Given the description of an element on the screen output the (x, y) to click on. 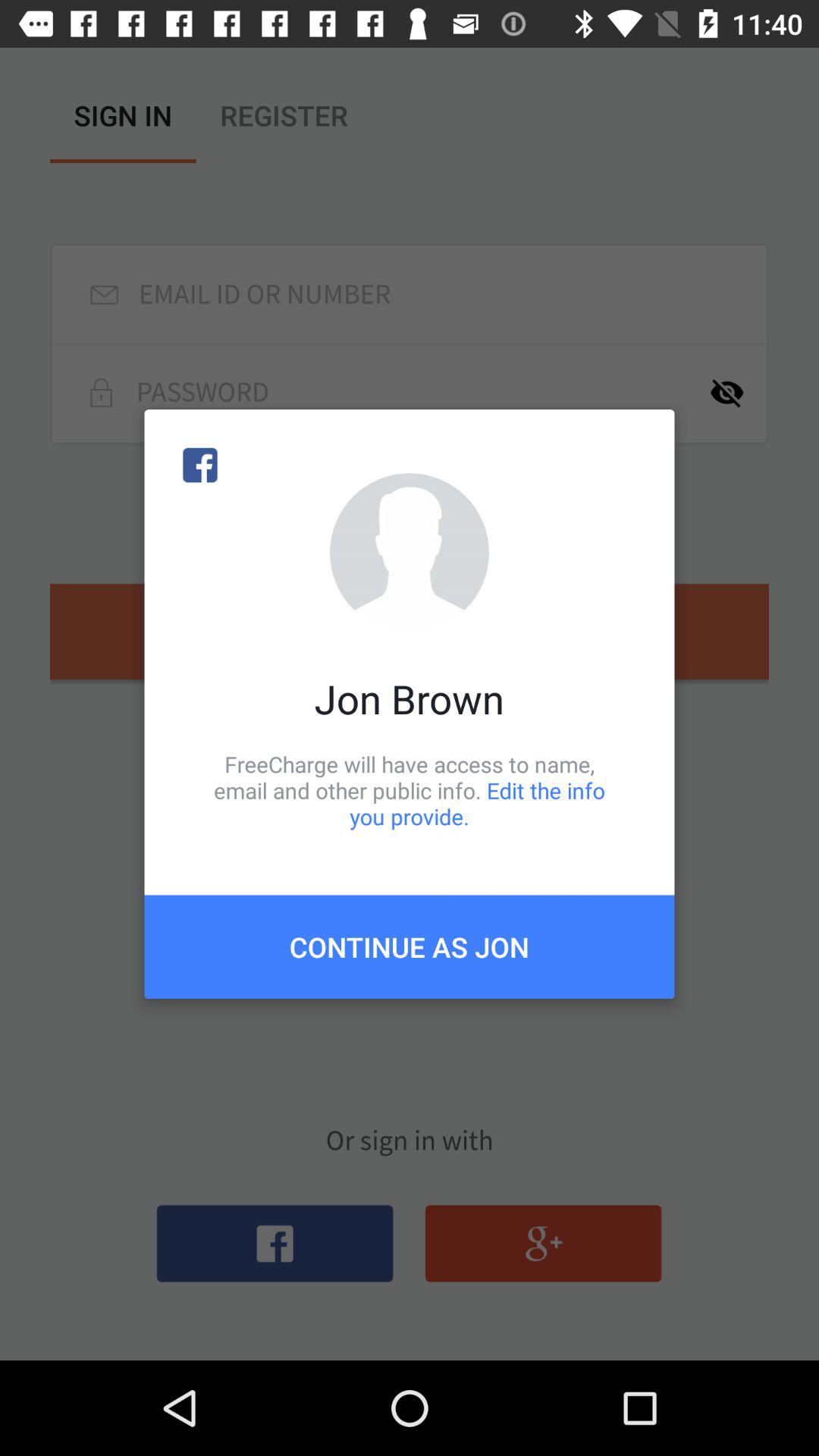
select the freecharge will have item (409, 790)
